Given the description of an element on the screen output the (x, y) to click on. 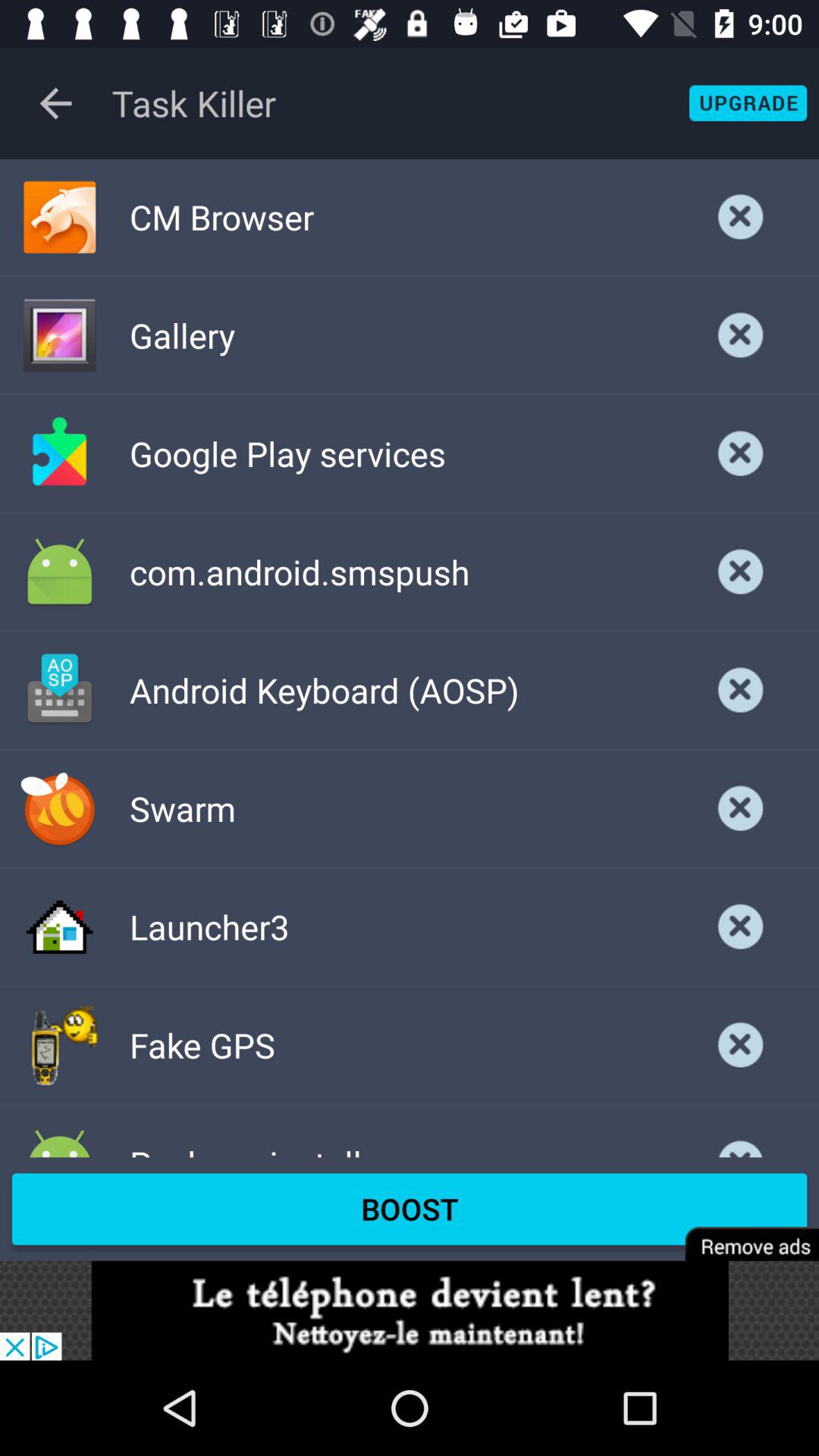
launch advertisement (409, 1310)
